Given the description of an element on the screen output the (x, y) to click on. 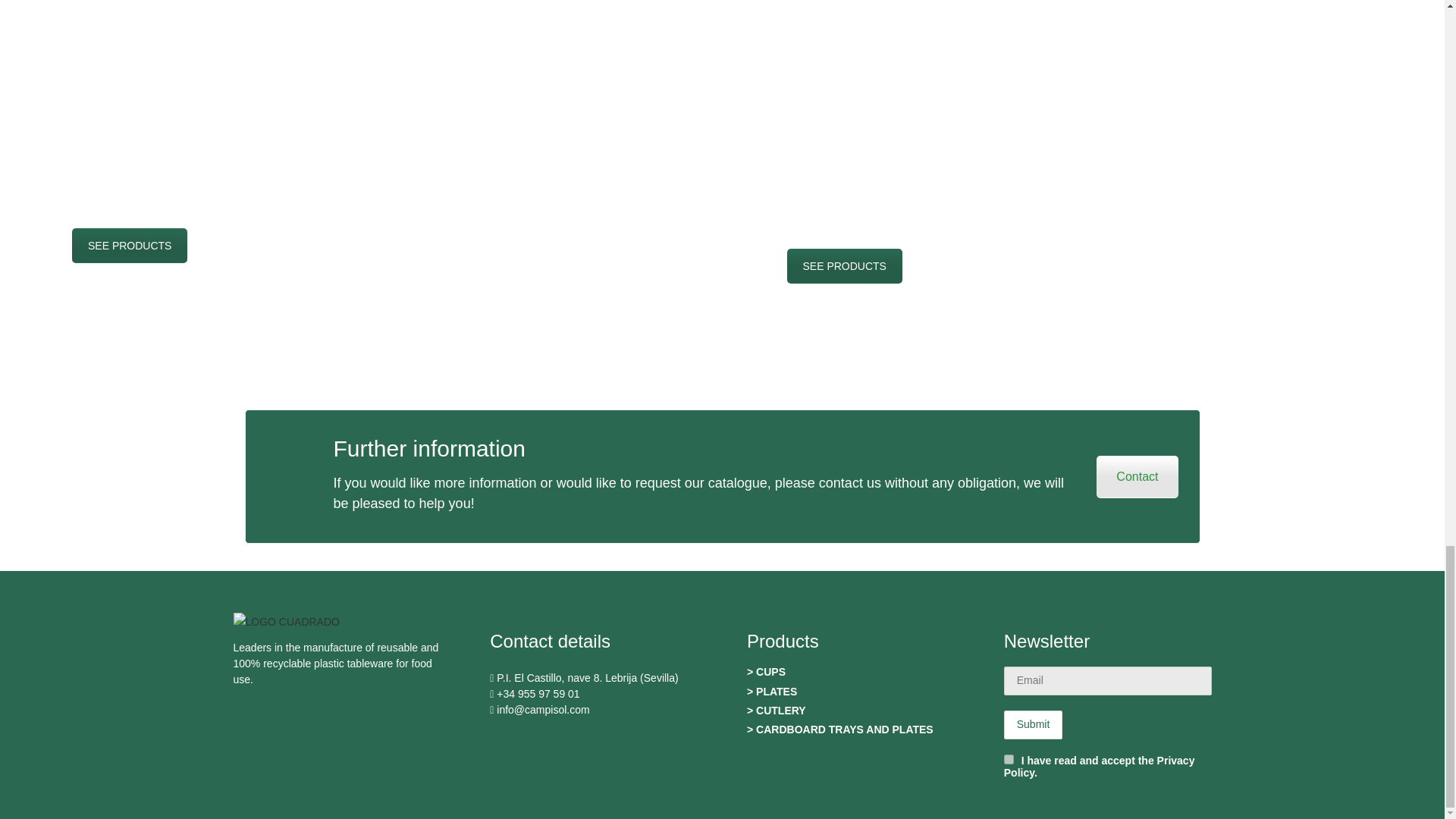
Cardboard trays and plates (844, 265)
LOGO CUADRADO (285, 621)
Styrofoam cups (129, 245)
Contact (1136, 476)
1 (1008, 759)
Submit (1033, 724)
